Given the description of an element on the screen output the (x, y) to click on. 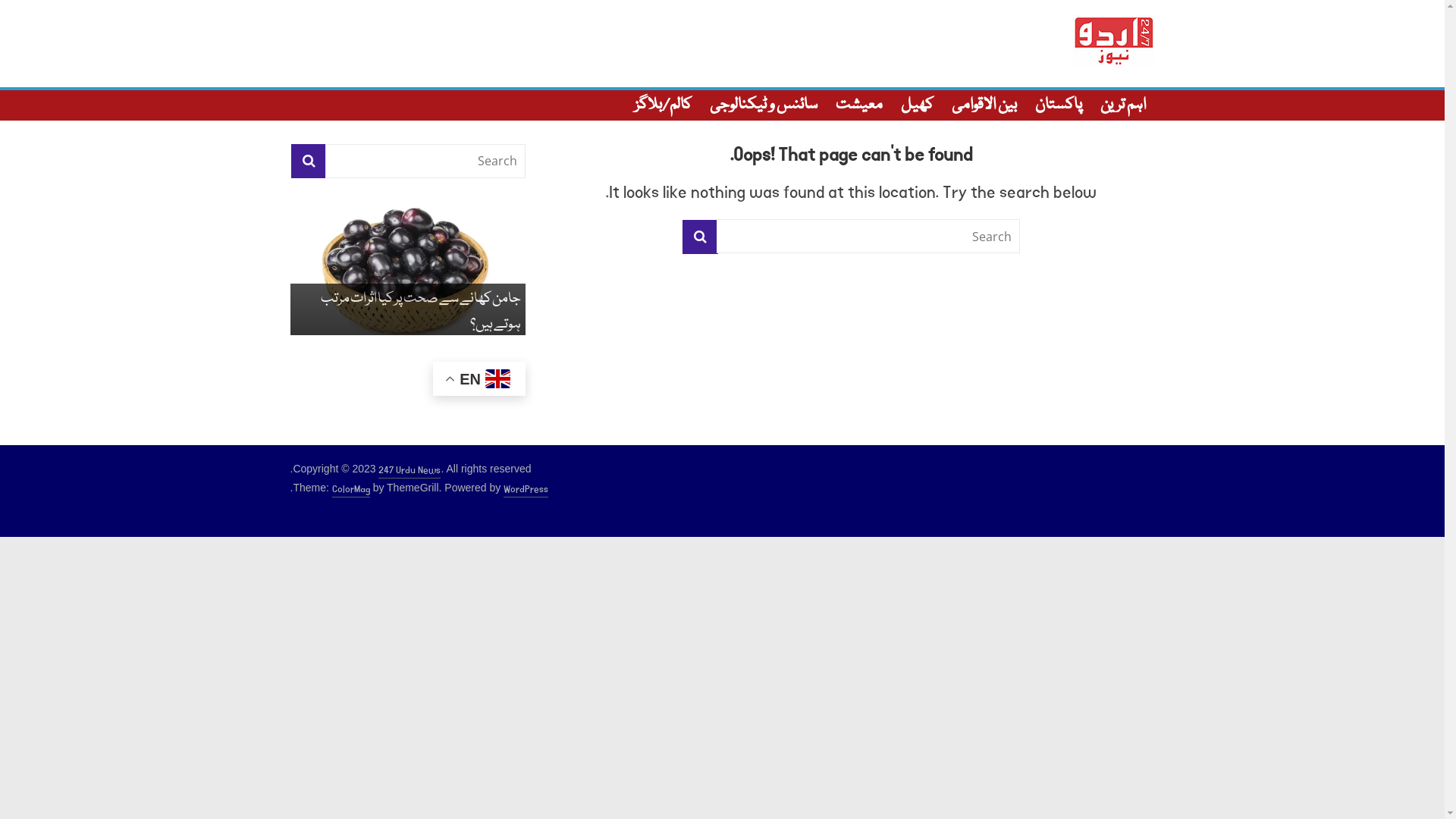
ColorMag Element type: text (351, 489)
247 Urdu News Element type: text (409, 470)
WordPress Element type: text (525, 489)
247 Urdu News Element type: text (1118, 102)
